Given the description of an element on the screen output the (x, y) to click on. 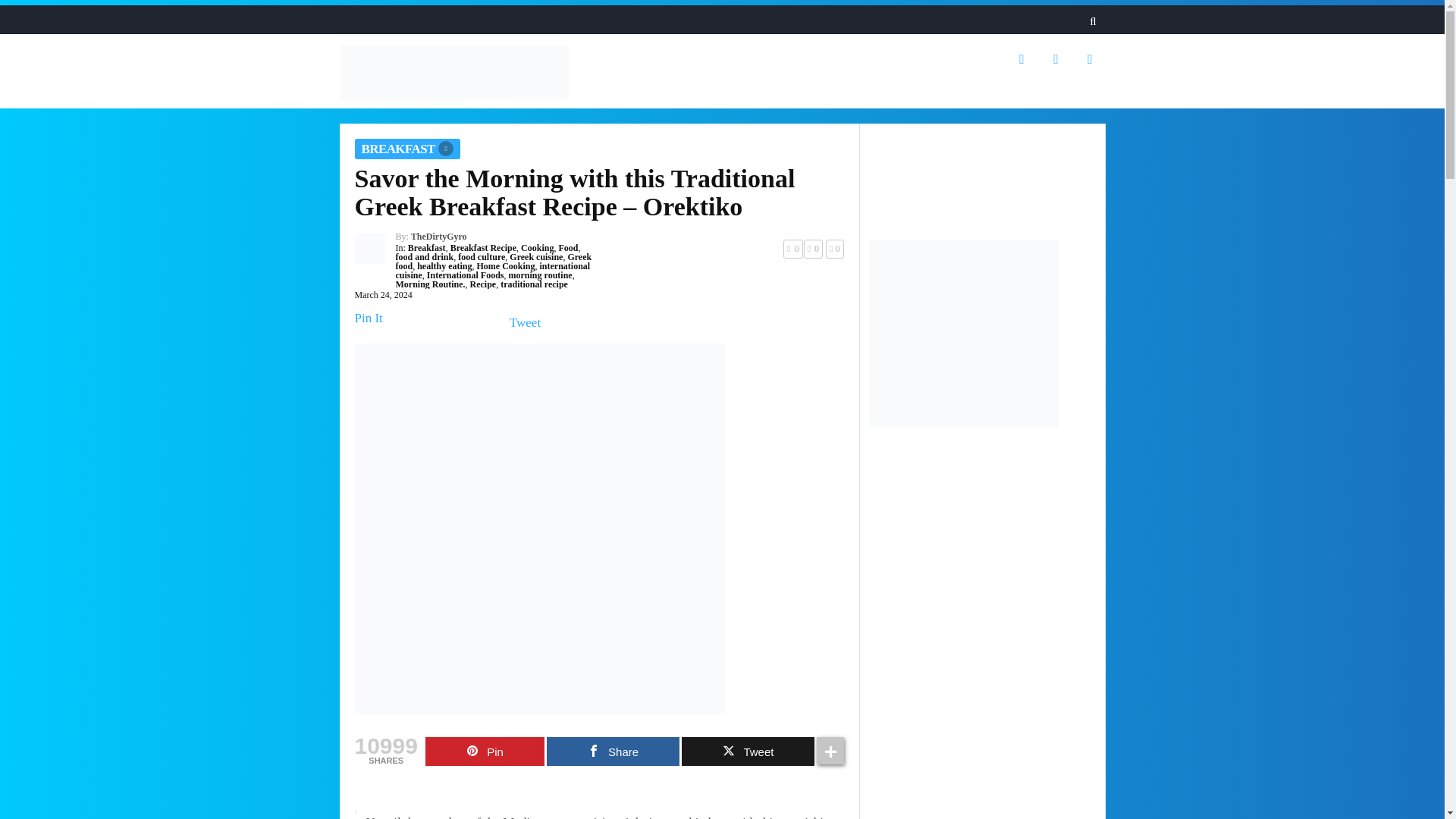
View all posts in Morning Routine. (430, 284)
View all posts in morning routine (540, 275)
Greek food (494, 261)
Greek cuisine (535, 256)
View all posts in Food (567, 247)
food culture (481, 256)
international cuisine (493, 270)
View all posts in Cooking (537, 247)
View all posts in healthy eating (443, 266)
Tweet (747, 751)
View all posts in food culture (481, 256)
View all posts in International Foods (464, 275)
TheDirtyGyro (438, 235)
Share (613, 751)
Morning Routine. (430, 284)
